Given the description of an element on the screen output the (x, y) to click on. 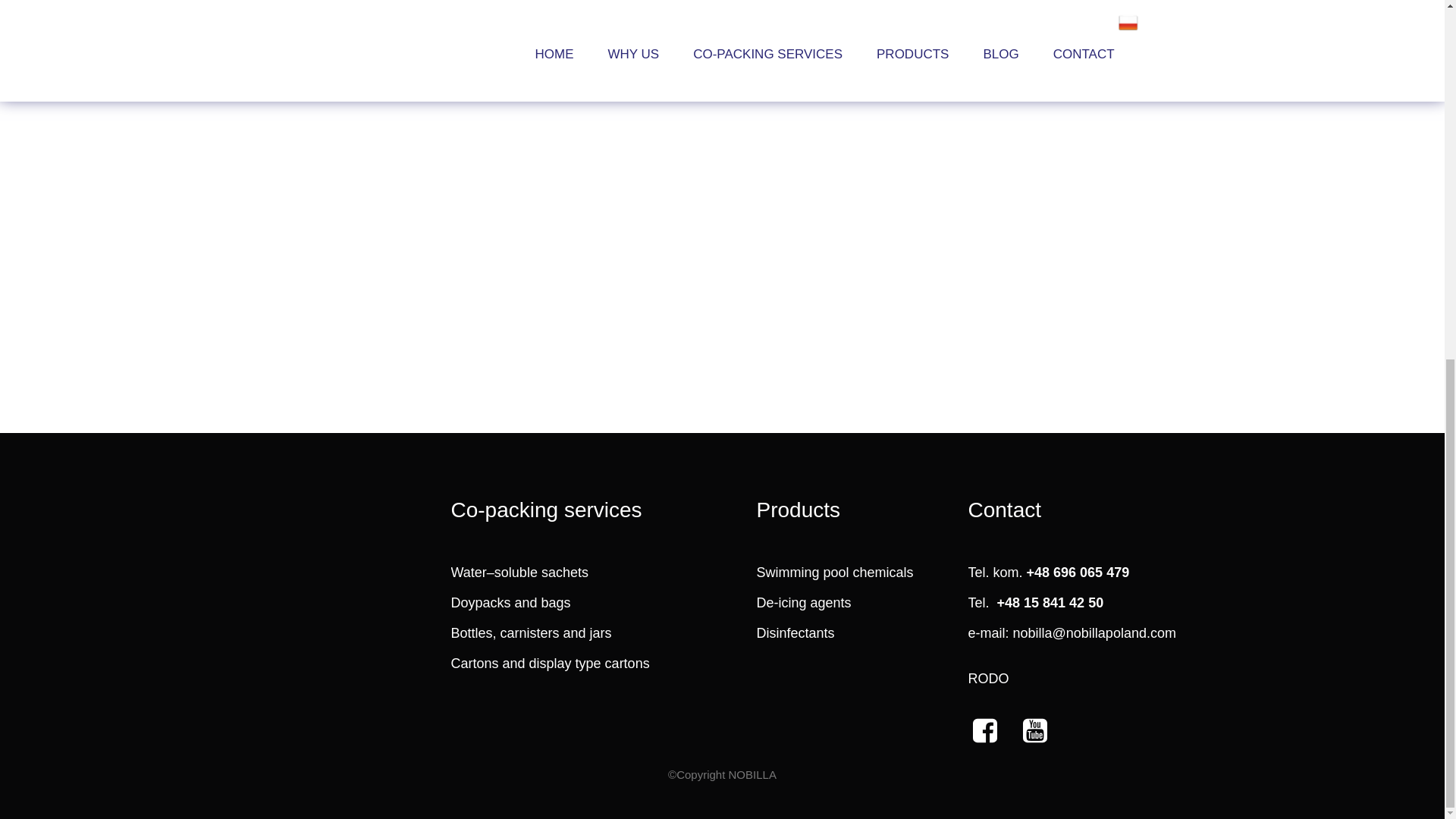
De-icing agents (830, 602)
Disinfectants (830, 632)
Cartons and display type cartons  (579, 663)
RODO (1041, 678)
Bottles, carnisters and jars (540, 632)
Swimming pool chemicals (848, 572)
